Given the description of an element on the screen output the (x, y) to click on. 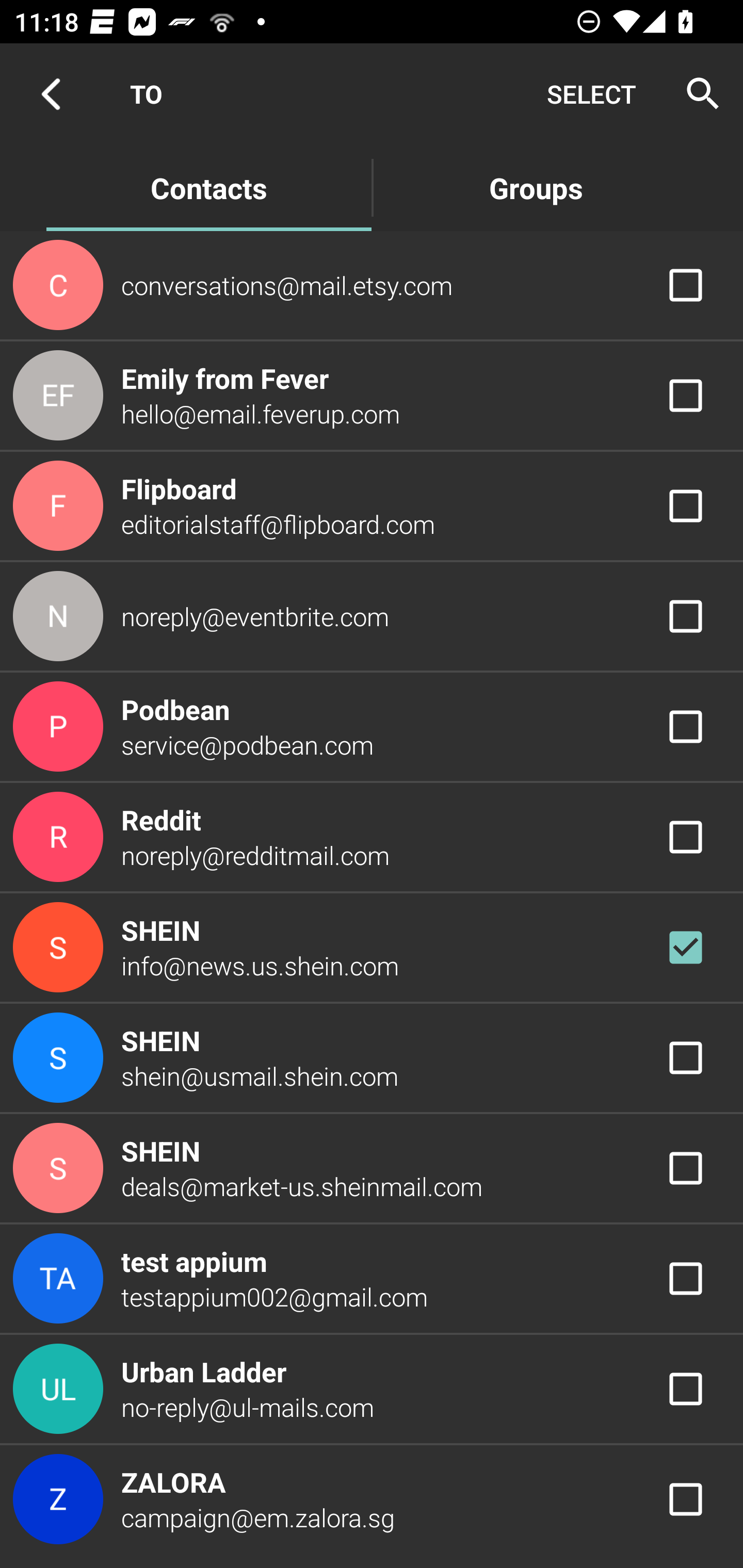
Navigate up (50, 93)
SELECT (590, 93)
Search (696, 93)
Contacts (208, 187)
Groups (535, 187)
conversations@mail.etsy.com (371, 284)
Emily from Fever hello@email.feverup.com (371, 395)
Flipboard editorialstaff@flipboard.com (371, 505)
noreply@eventbrite.com (371, 616)
Podbean service@podbean.com (371, 726)
Reddit noreply@redditmail.com (371, 836)
SHEIN info@news.us.shein.com (371, 947)
SHEIN shein@usmail.shein.com (371, 1057)
SHEIN deals@market-us.sheinmail.com (371, 1168)
test appium testappium002@gmail.com (371, 1278)
Urban Ladder no-reply@ul-mails.com (371, 1388)
ZALORA campaign@em.zalora.sg (371, 1499)
